Given the description of an element on the screen output the (x, y) to click on. 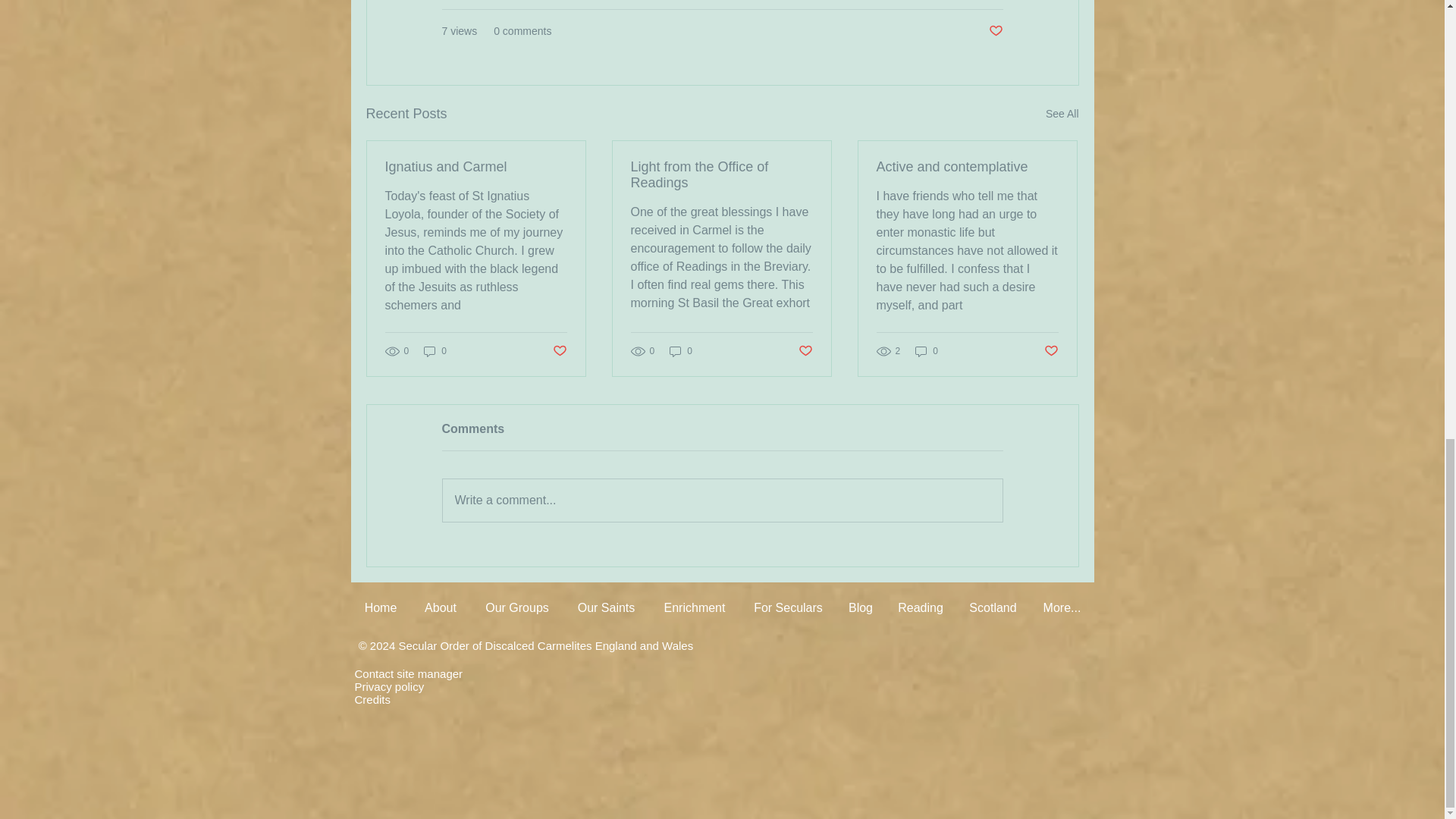
Ignatius and Carmel (476, 166)
See All (1061, 114)
Post not marked as liked (995, 31)
Light from the Office of Readings (721, 174)
0 (435, 350)
Post not marked as liked (558, 350)
